Given the description of an element on the screen output the (x, y) to click on. 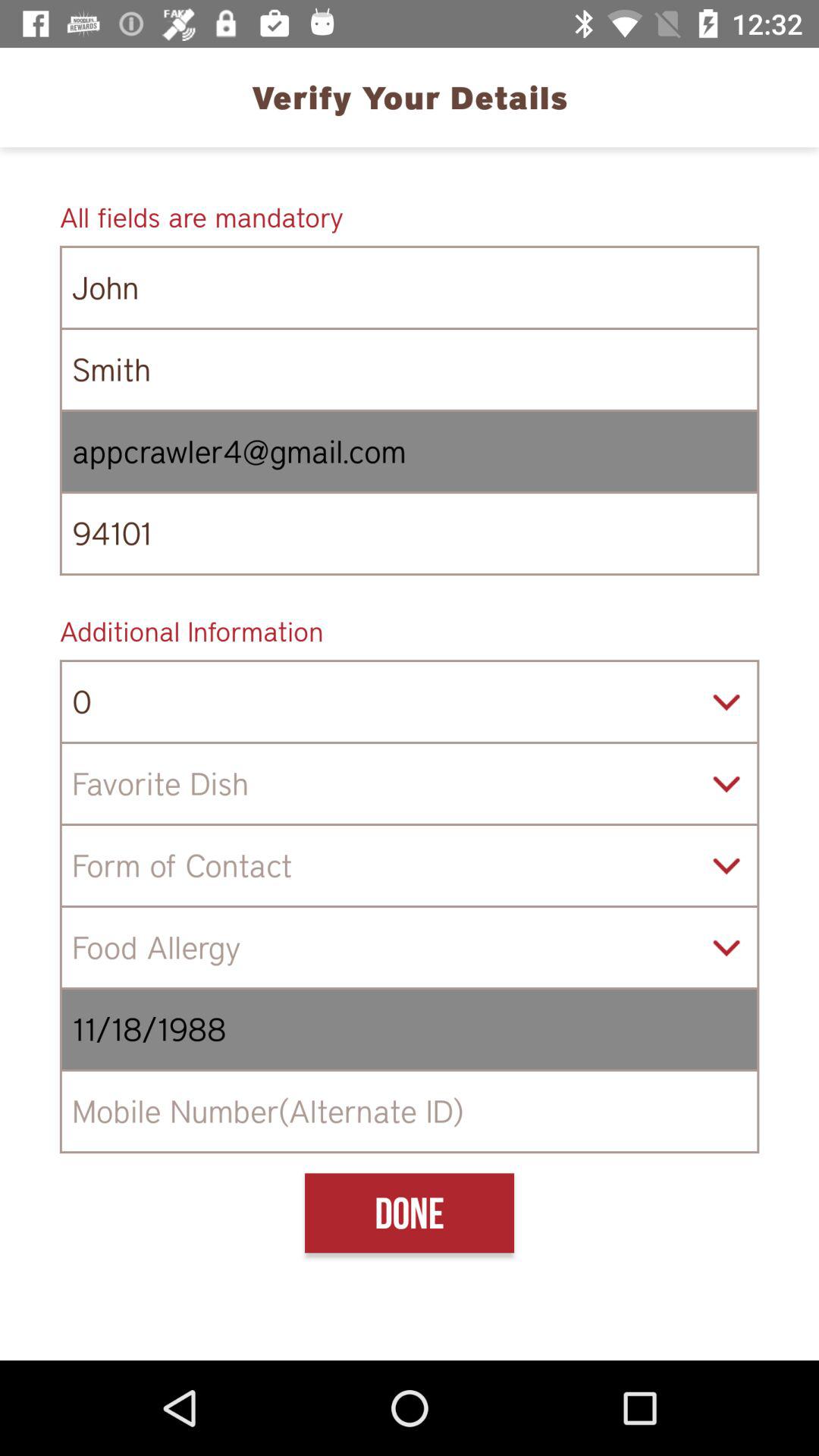
select item (409, 865)
